Given the description of an element on the screen output the (x, y) to click on. 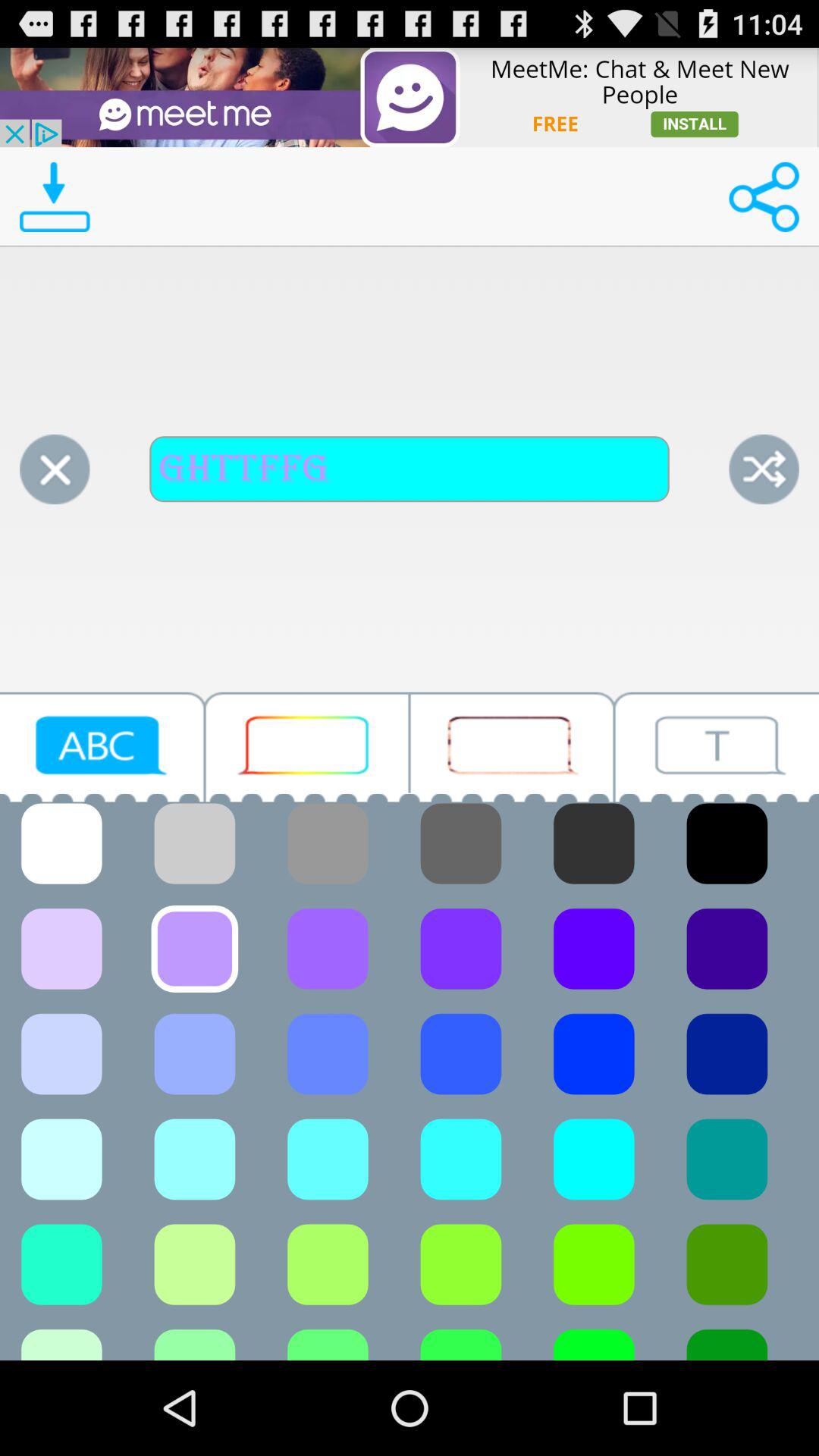
advertisement (511, 746)
